Given the description of an element on the screen output the (x, y) to click on. 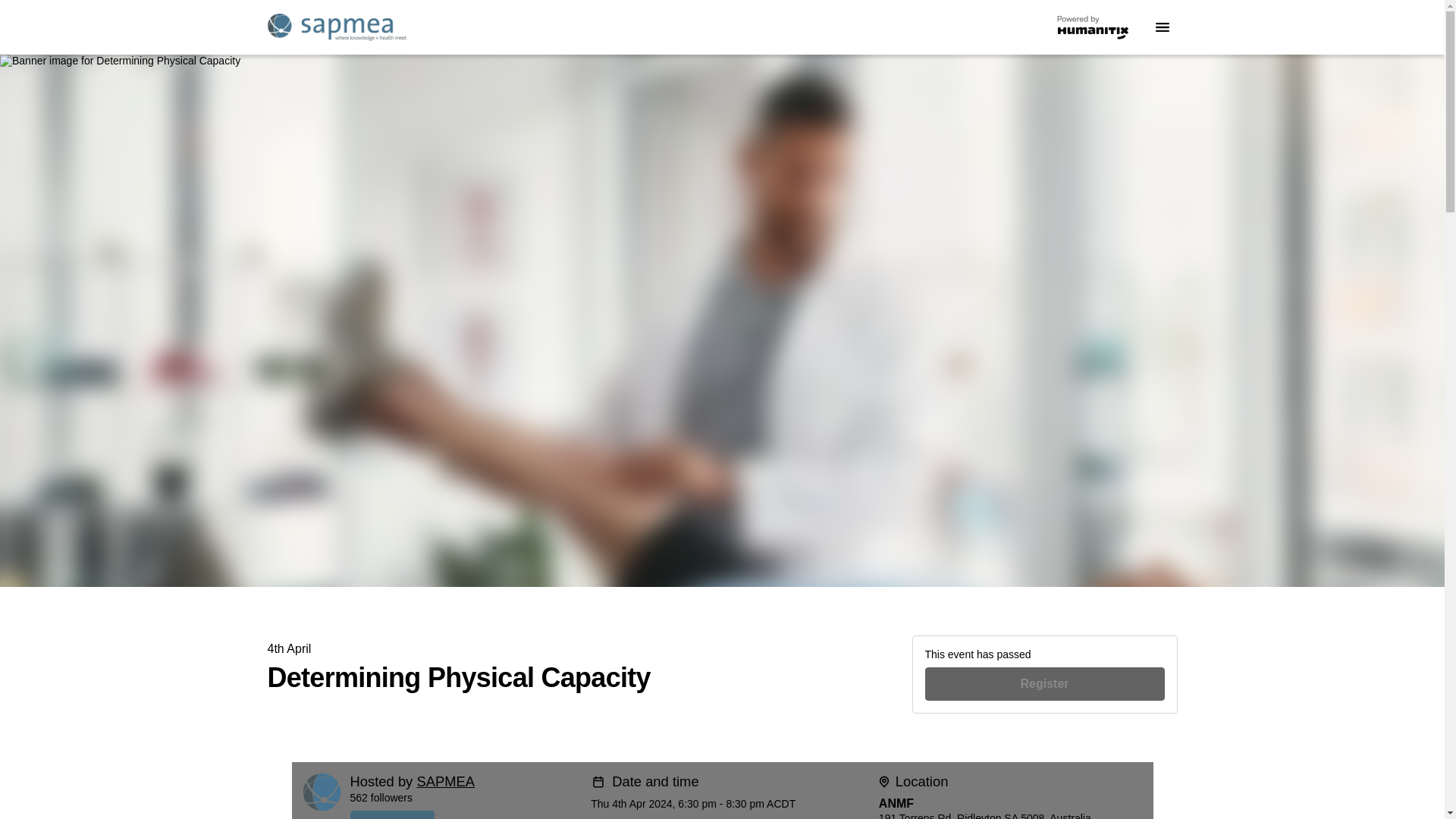
SAPMEA (445, 781)
Follow (465, 814)
Register (1044, 684)
Skip to Content (18, 18)
